Given the description of an element on the screen output the (x, y) to click on. 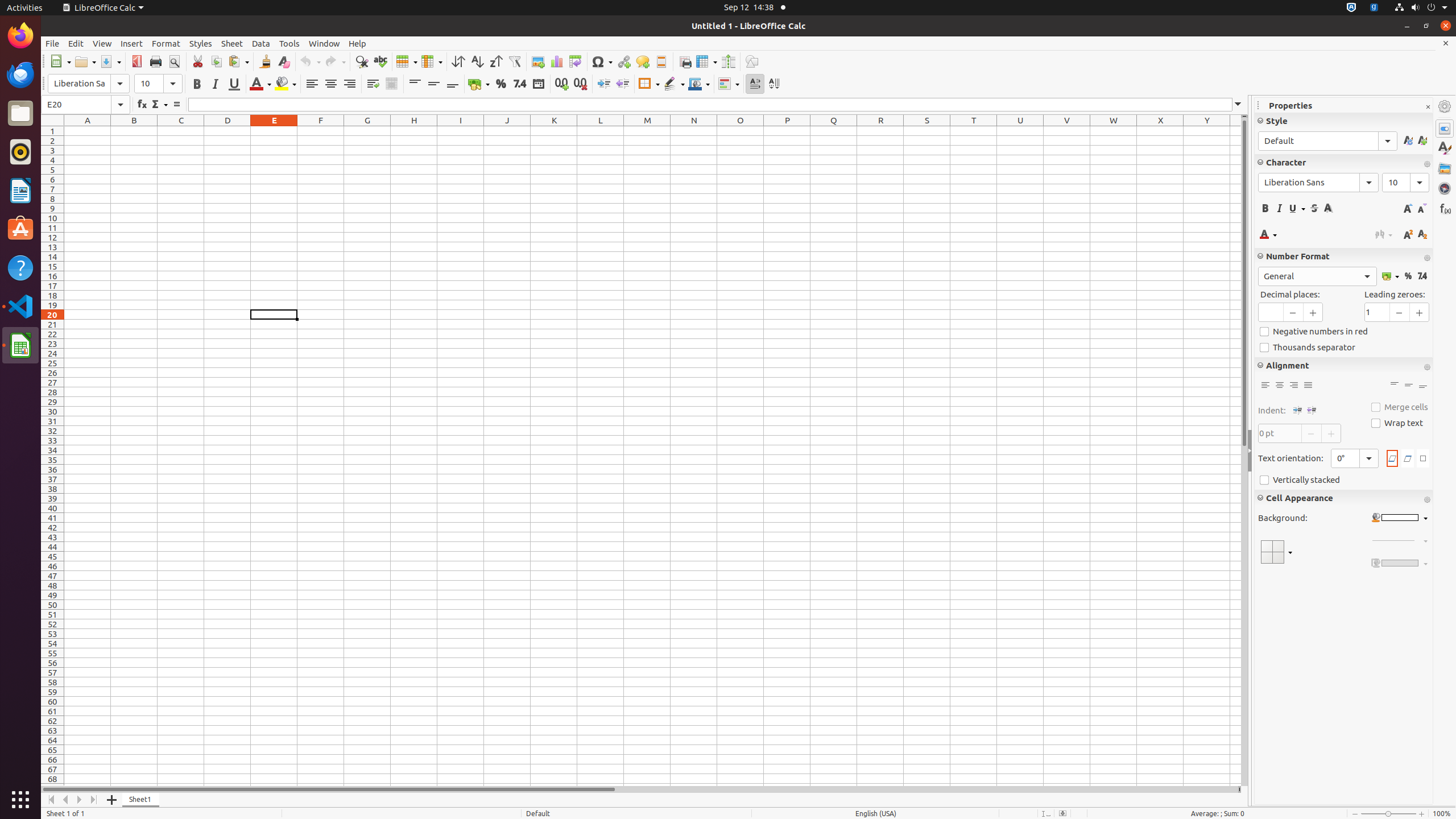
Visual Studio Code Element type: push-button (20, 306)
Copy Element type: push-button (216, 61)
Sort Ascending Element type: push-button (476, 61)
:1.72/StatusNotifierItem Element type: menu (1350, 7)
Select Function Element type: push-button (159, 104)
